Given the description of an element on the screen output the (x, y) to click on. 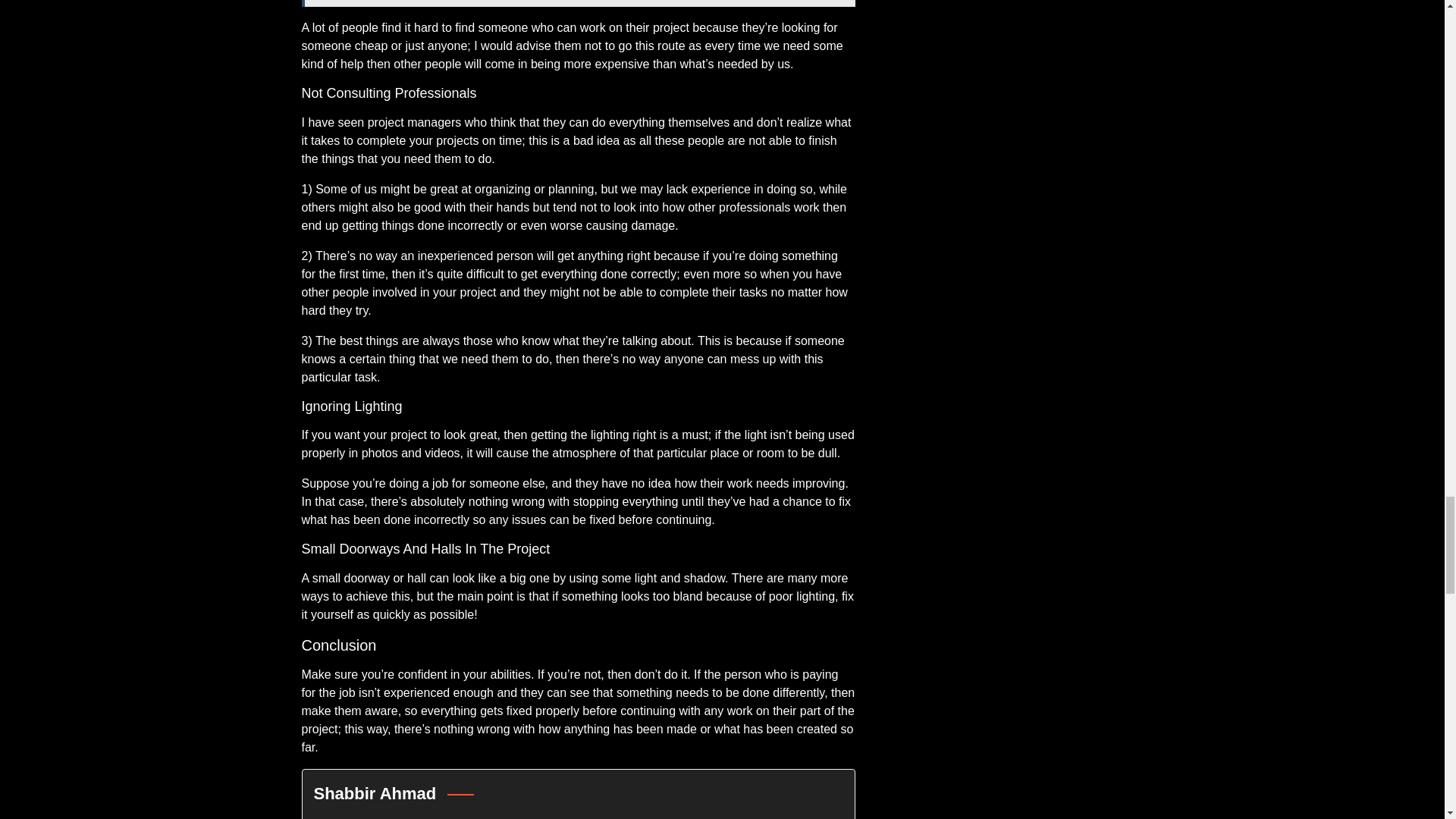
See also  What Are the Different Uses of Vinyl Flooring? (578, 3)
